Given the description of an element on the screen output the (x, y) to click on. 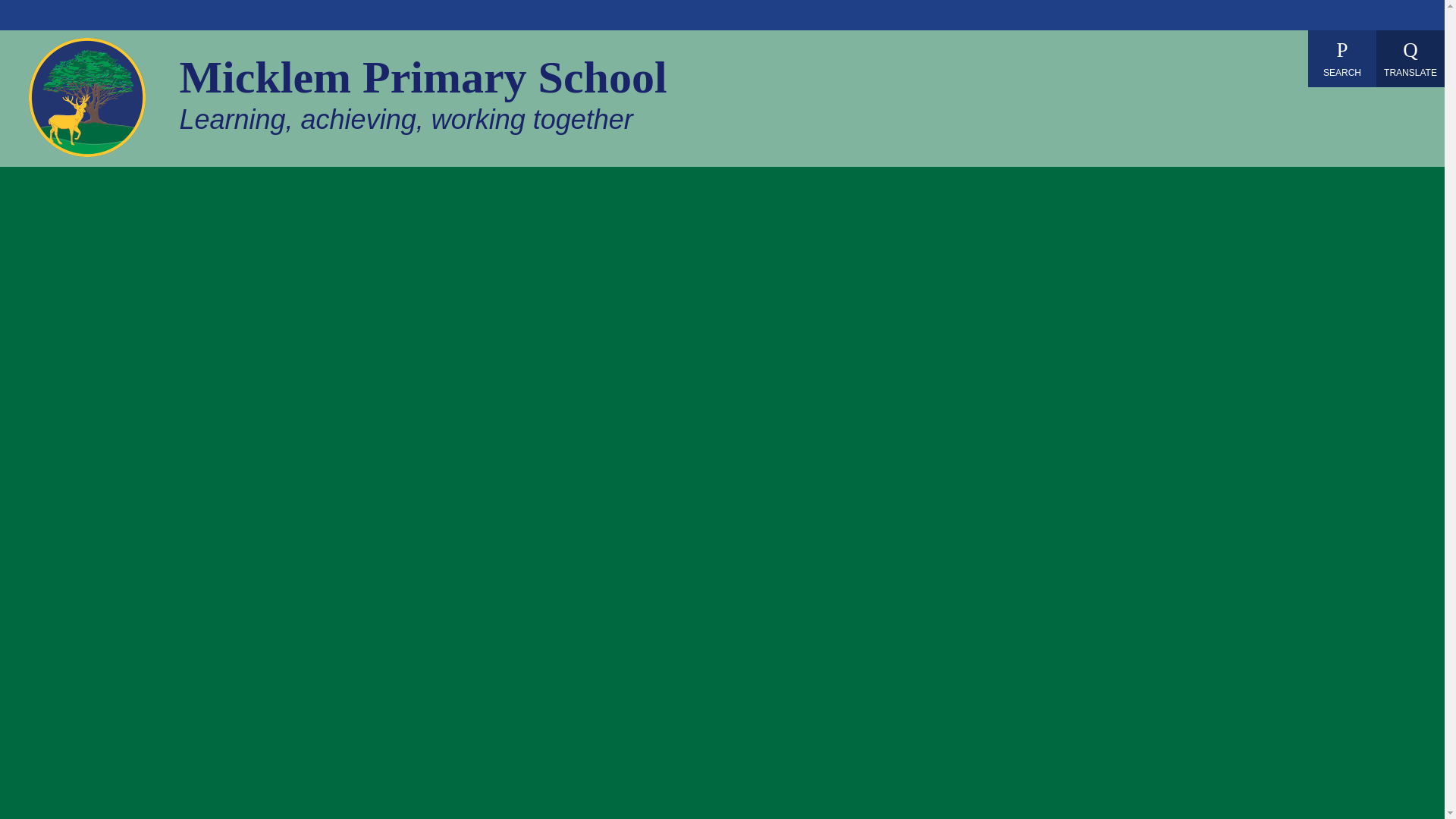
Home Page (87, 97)
